Given the description of an element on the screen output the (x, y) to click on. 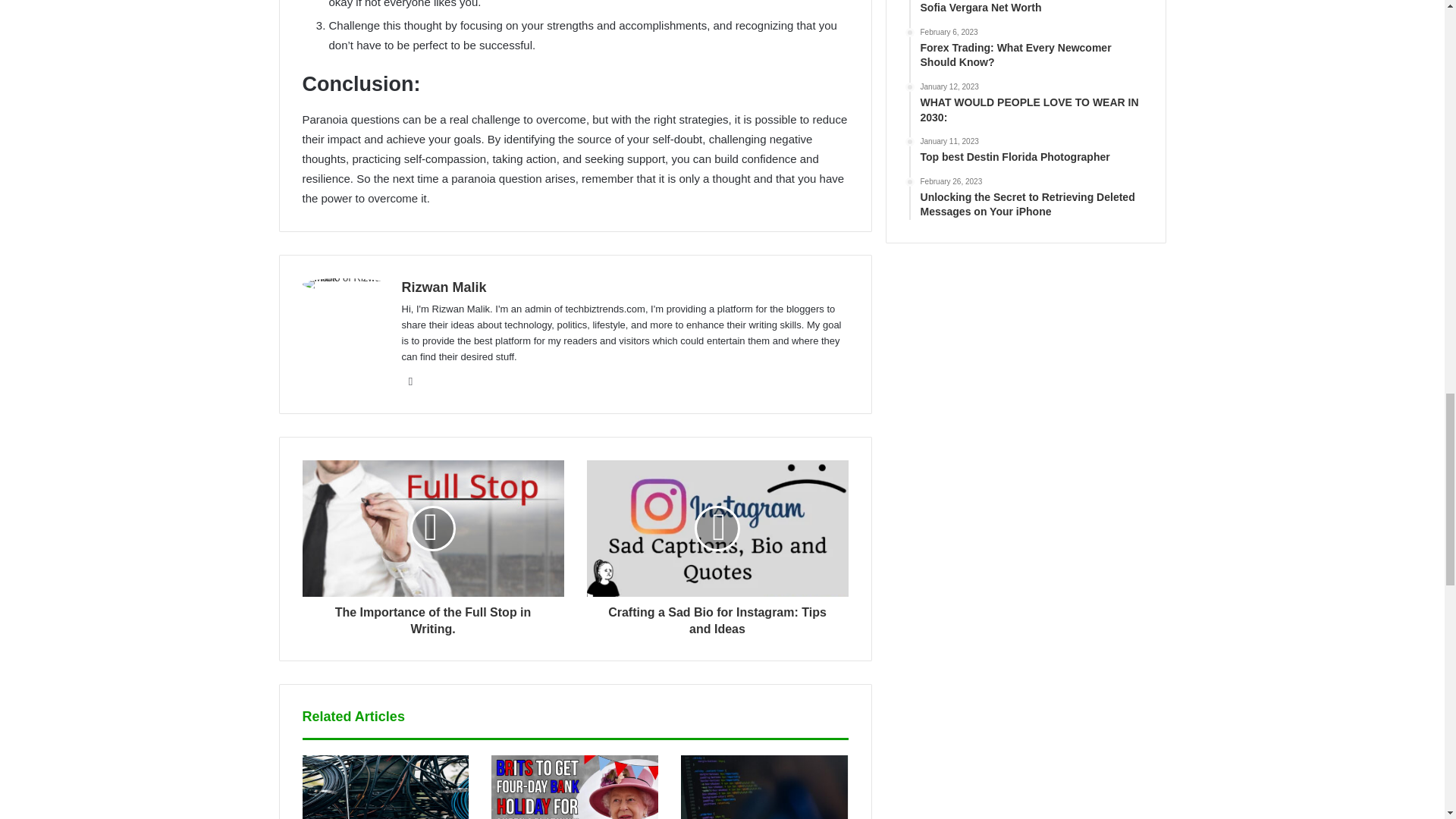
Website (410, 381)
Rizwan Malik (443, 287)
